Given the description of an element on the screen output the (x, y) to click on. 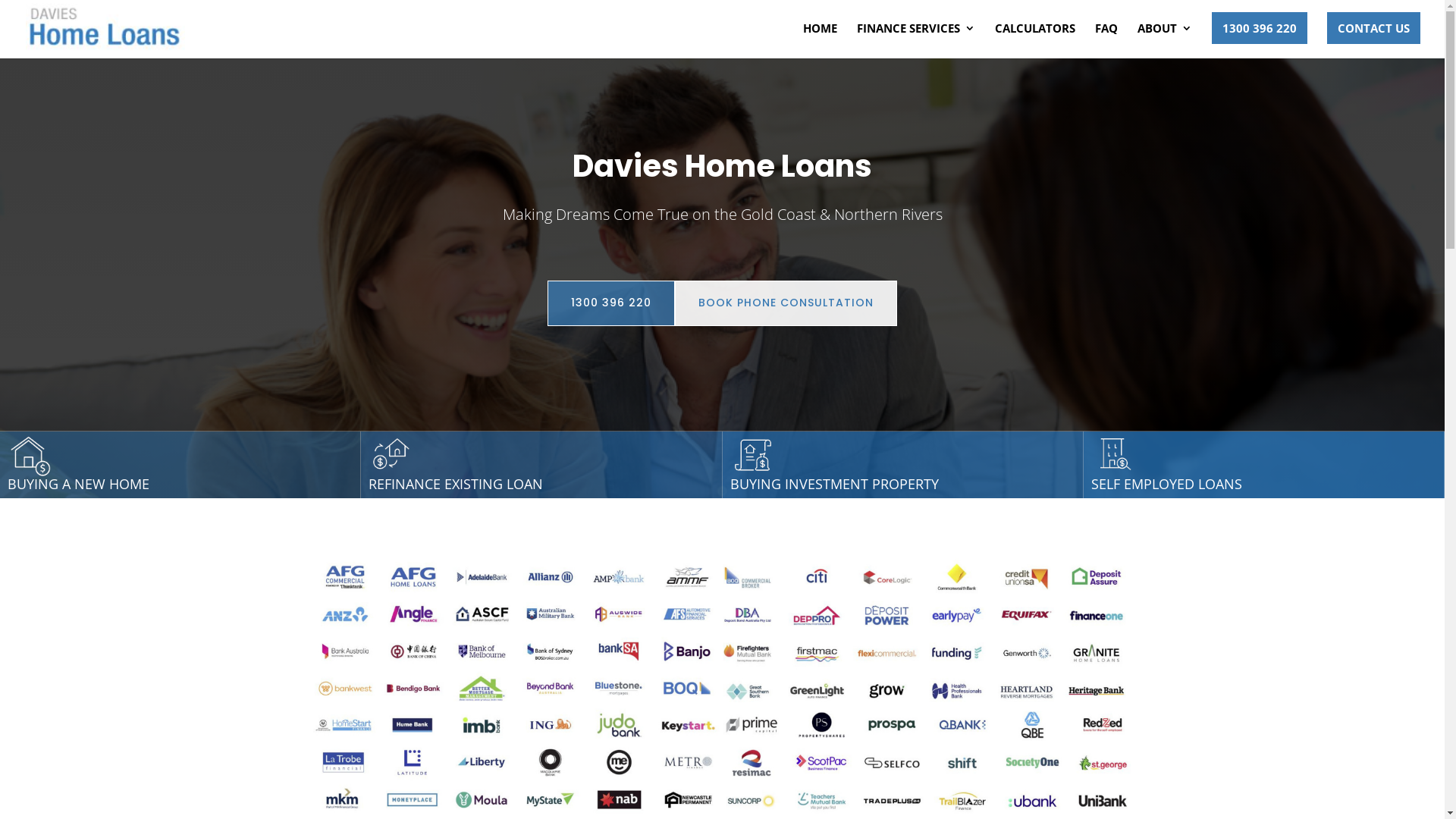
BOOK PHONE CONSULTATION Element type: text (785, 303)
ABOUT Element type: text (1164, 40)
1300 396 220 Element type: text (1259, 27)
icon-white-home-loan80x80 Element type: hover (391, 453)
HOME Element type: text (820, 40)
FINANCE SERVICES Element type: text (915, 40)
CALCULATORS Element type: text (1034, 40)
icon-white-home-loan80x80 Element type: hover (1113, 453)
1300 396 220 Element type: text (610, 303)
icon-white-home-loan80x80 Element type: hover (752, 453)
CONTACT US Element type: text (1373, 27)
FAQ Element type: text (1106, 40)
icon-white-home-loan80x80 Element type: hover (30, 453)
